Given the description of an element on the screen output the (x, y) to click on. 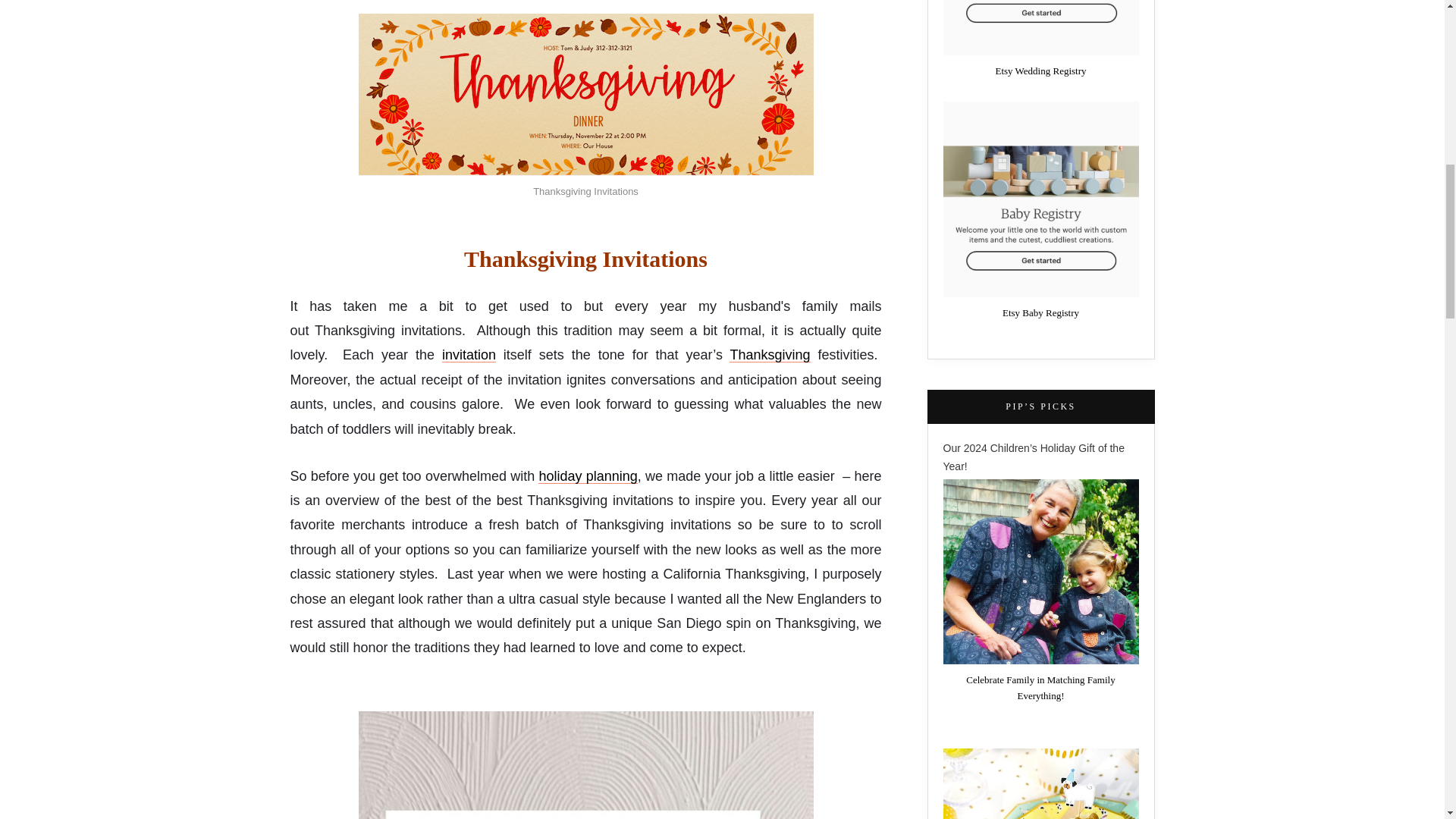
Thanksgiving Invitations (585, 94)
Celebrate Family in Matching Family Everything! (1040, 571)
